Given the description of an element on the screen output the (x, y) to click on. 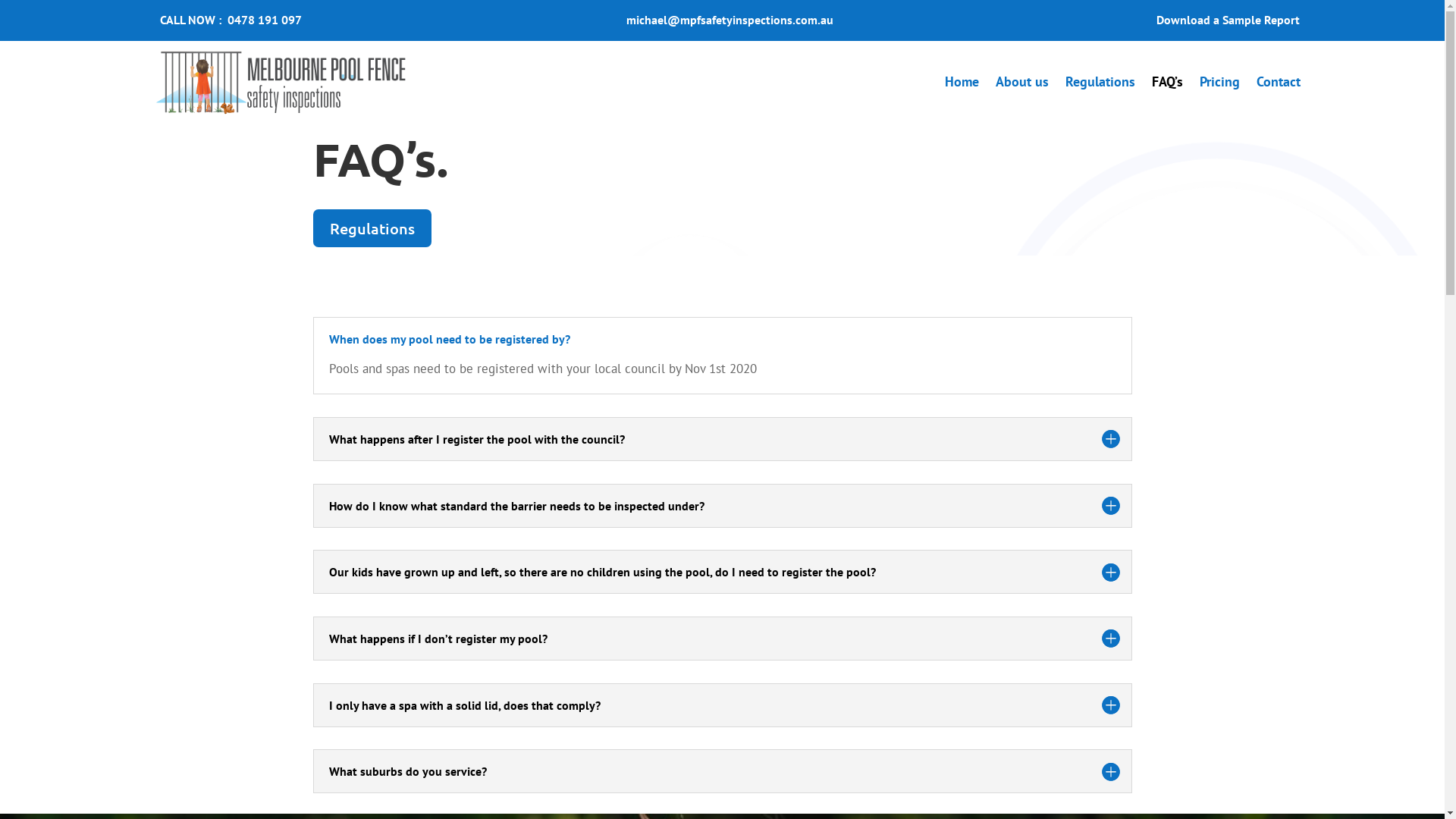
Contact Element type: text (1277, 81)
CALL NOW :  0478 191 097 Element type: text (230, 19)
Pricing Element type: text (1219, 81)
Regulations Element type: text (1099, 81)
Regulations Element type: text (371, 228)
About us Element type: text (1021, 81)
Download a Sample Report Element type: text (1227, 19)
Home Element type: text (961, 81)
michael@mpfsafetyinspections.com.au Element type: text (729, 19)
